Given the description of an element on the screen output the (x, y) to click on. 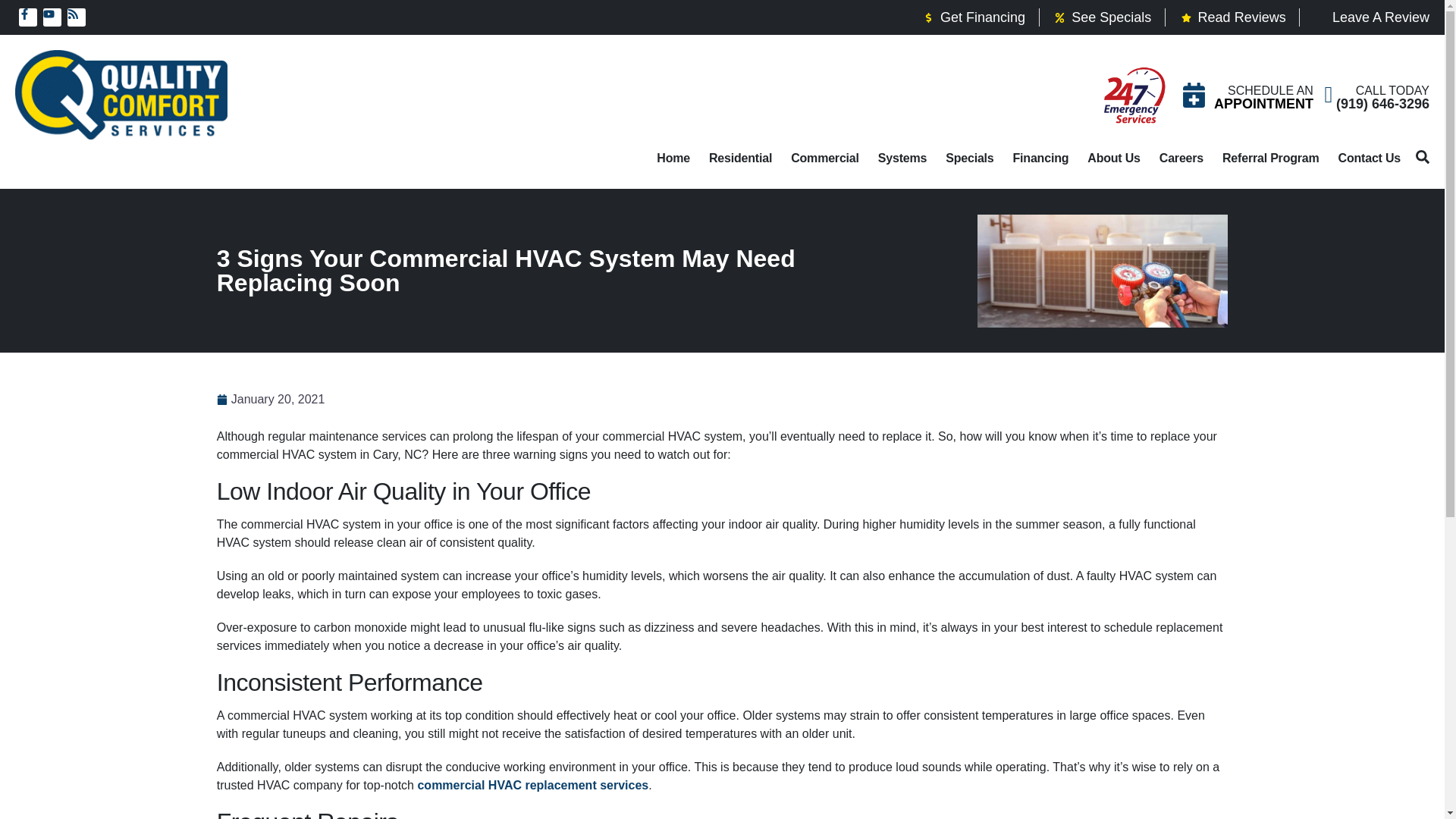
Specials (968, 158)
Get Financing (973, 17)
APPOINTMENT (1263, 103)
SCHEDULE AN (1270, 89)
Leave A Review (1371, 17)
Home (673, 158)
Commercial (824, 158)
Residential (740, 158)
Read Reviews (1231, 17)
See Specials (1101, 17)
CALL TODAY (1392, 89)
Systems (901, 158)
